Given the description of an element on the screen output the (x, y) to click on. 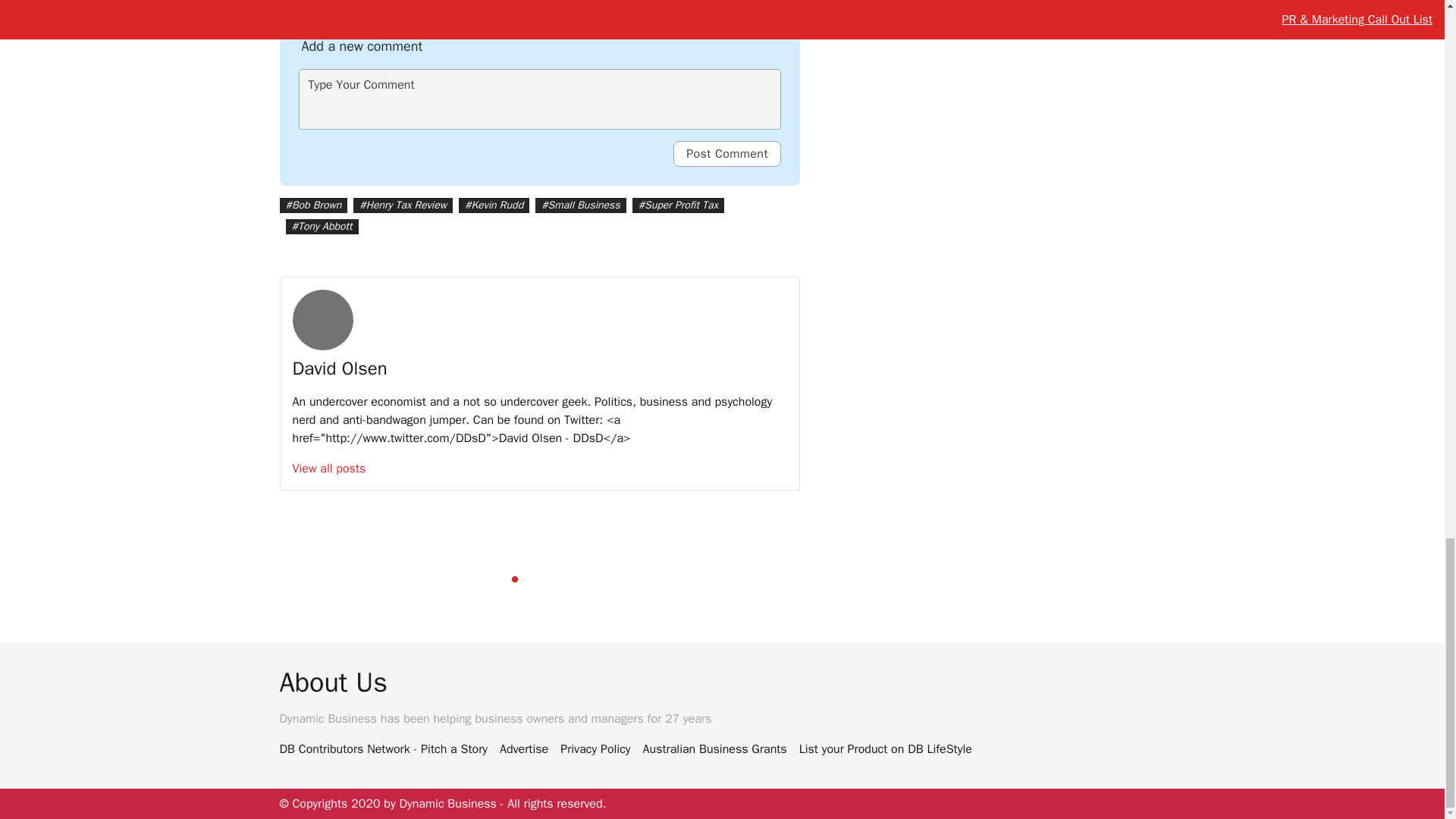
Post Comment (726, 153)
